Given the description of an element on the screen output the (x, y) to click on. 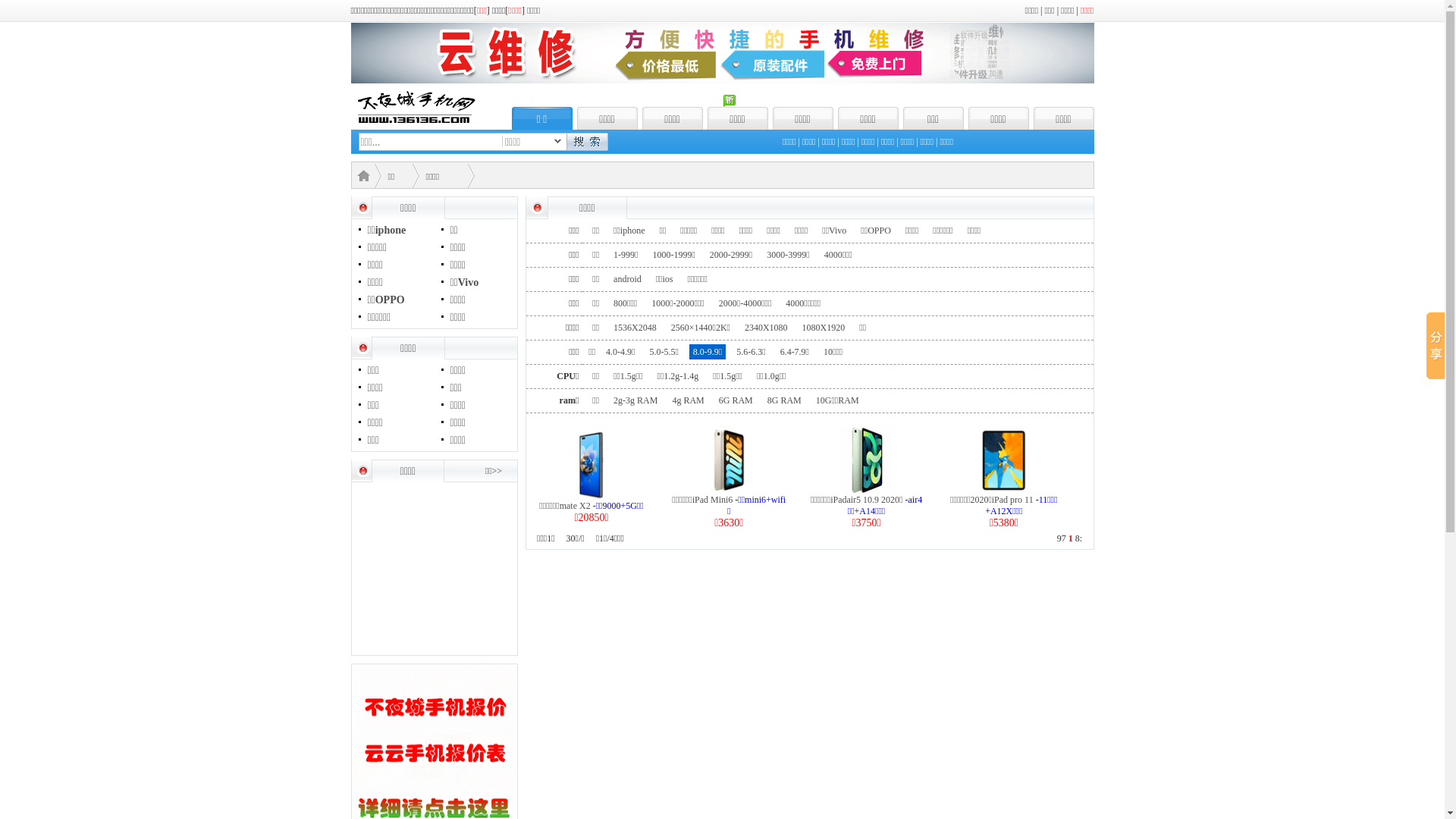
2g-3g RAM Element type: text (635, 399)
2340X1080 Element type: text (765, 327)
1080X1920 Element type: text (823, 327)
1536X2048 Element type: text (634, 327)
8G RAM Element type: text (784, 399)
4g RAM Element type: text (687, 399)
top1 Element type: hover (721, 80)
6G RAM Element type: text (735, 399)
android Element type: text (627, 278)
